Given the description of an element on the screen output the (x, y) to click on. 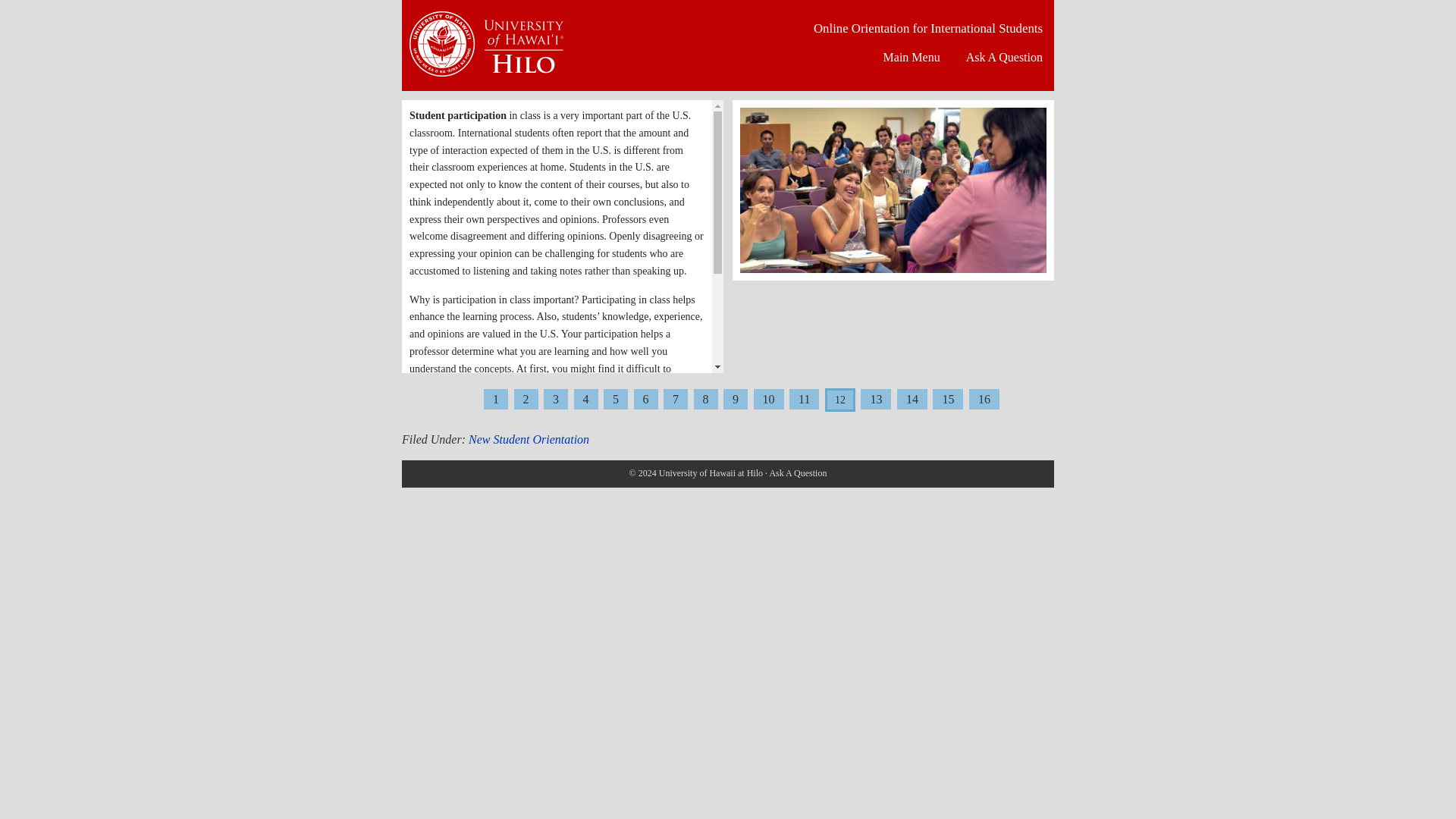
11 (803, 399)
9 (735, 399)
5 (615, 399)
UH Hilo International Student Services (486, 50)
Ask A Question (797, 472)
3 (555, 399)
8 (705, 399)
13 (875, 399)
16 (983, 399)
Ask A Question (1004, 57)
